Given the description of an element on the screen output the (x, y) to click on. 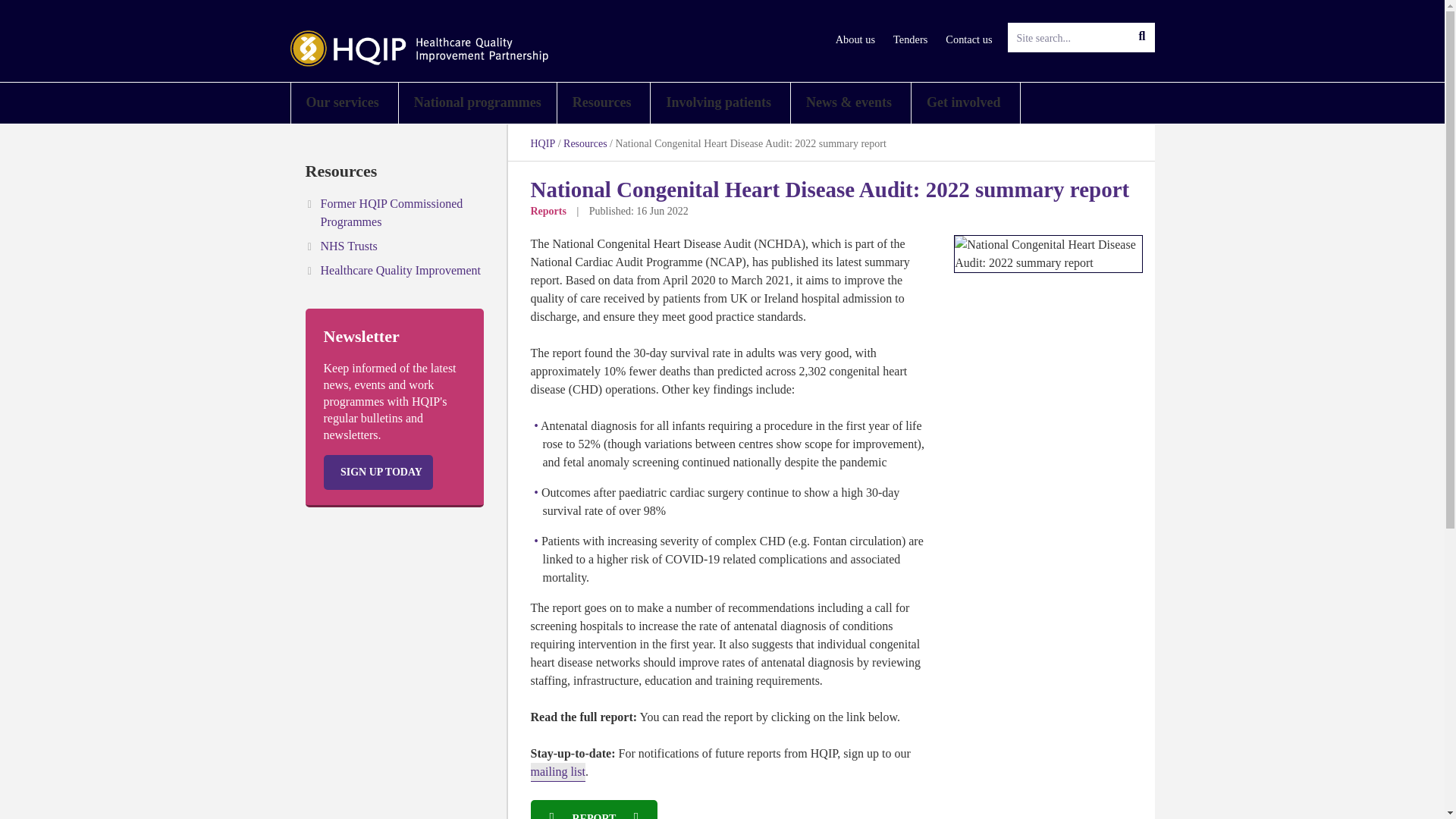
Resources (603, 102)
Tenders (910, 39)
Our services (344, 102)
Contact us (967, 39)
About us (855, 39)
